Given the description of an element on the screen output the (x, y) to click on. 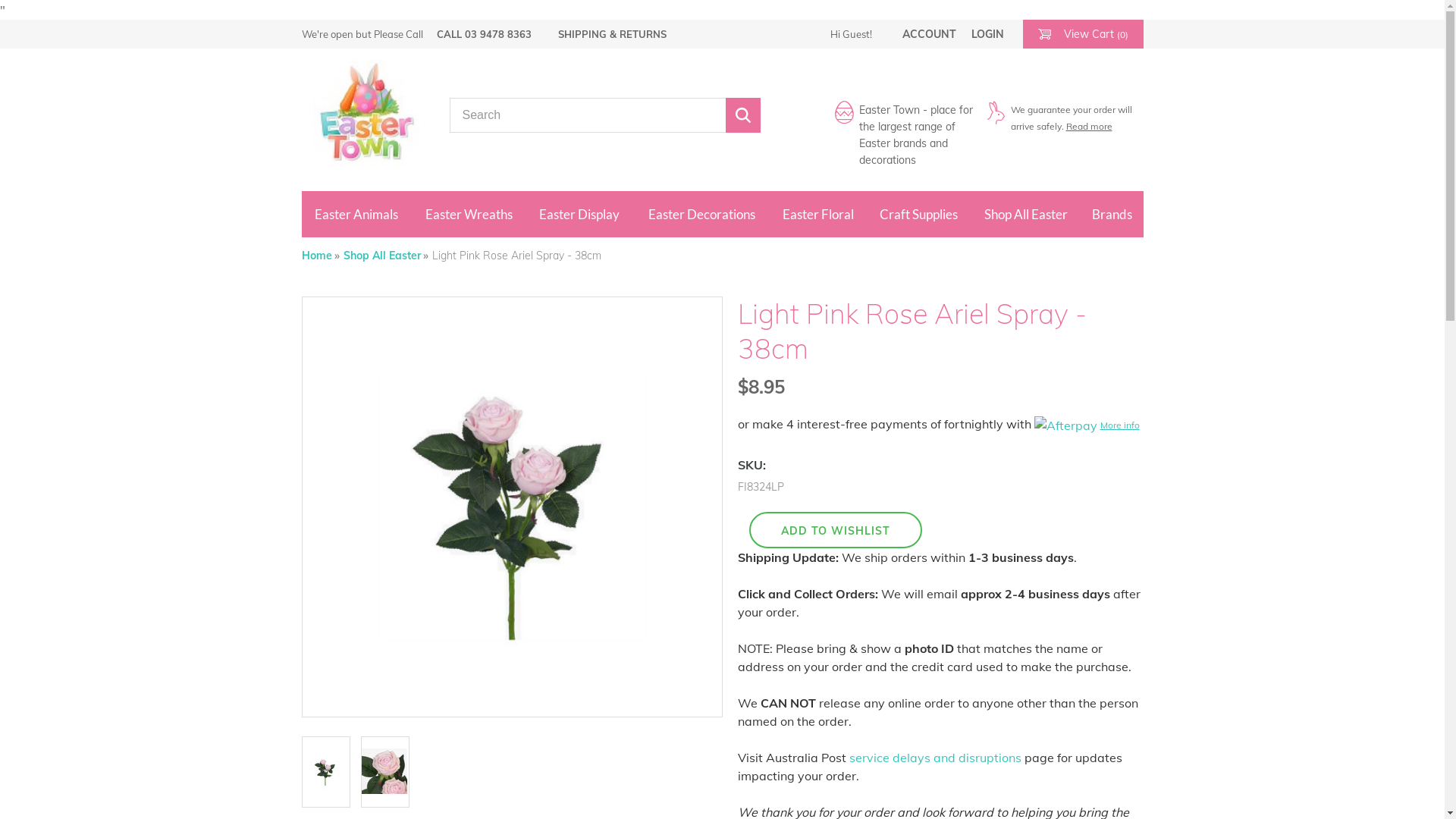
service delays and disruptions Element type: text (935, 757)
SHIPPING & RETURNS Element type: text (612, 33)
Light Pink Rose Ariel Spray Element type: hover (383, 765)
Read more Element type: text (1089, 125)
Shop All Easter Element type: text (1025, 214)
Easter Floral Element type: text (818, 214)
Light Pink Rose Ariel Spray Element type: hover (511, 506)
View Cart (0) Element type: text (1082, 33)
Easter Display Element type: text (579, 214)
More info Element type: text (1086, 424)
LOGIN Element type: text (986, 33)
View Cart Element type: hover (1042, 27)
Shop All Easter Element type: text (384, 255)
Easter Wreaths Element type: text (468, 214)
Craft Supplies Element type: text (918, 214)
Search Element type: hover (741, 114)
Home Element type: text (320, 255)
Light Pink Rose Ariel Spray Element type: hover (324, 765)
0 Element type: text (325, 771)
Easter Decorations Element type: text (701, 214)
ACCOUNT Element type: text (929, 33)
0 Element type: text (384, 771)
Brands Element type: text (1111, 214)
We're open but Please Call Element type: text (362, 34)
Add to Wishlist Element type: hover (835, 529)
Easter Animals Element type: text (356, 214)
